Given the description of an element on the screen output the (x, y) to click on. 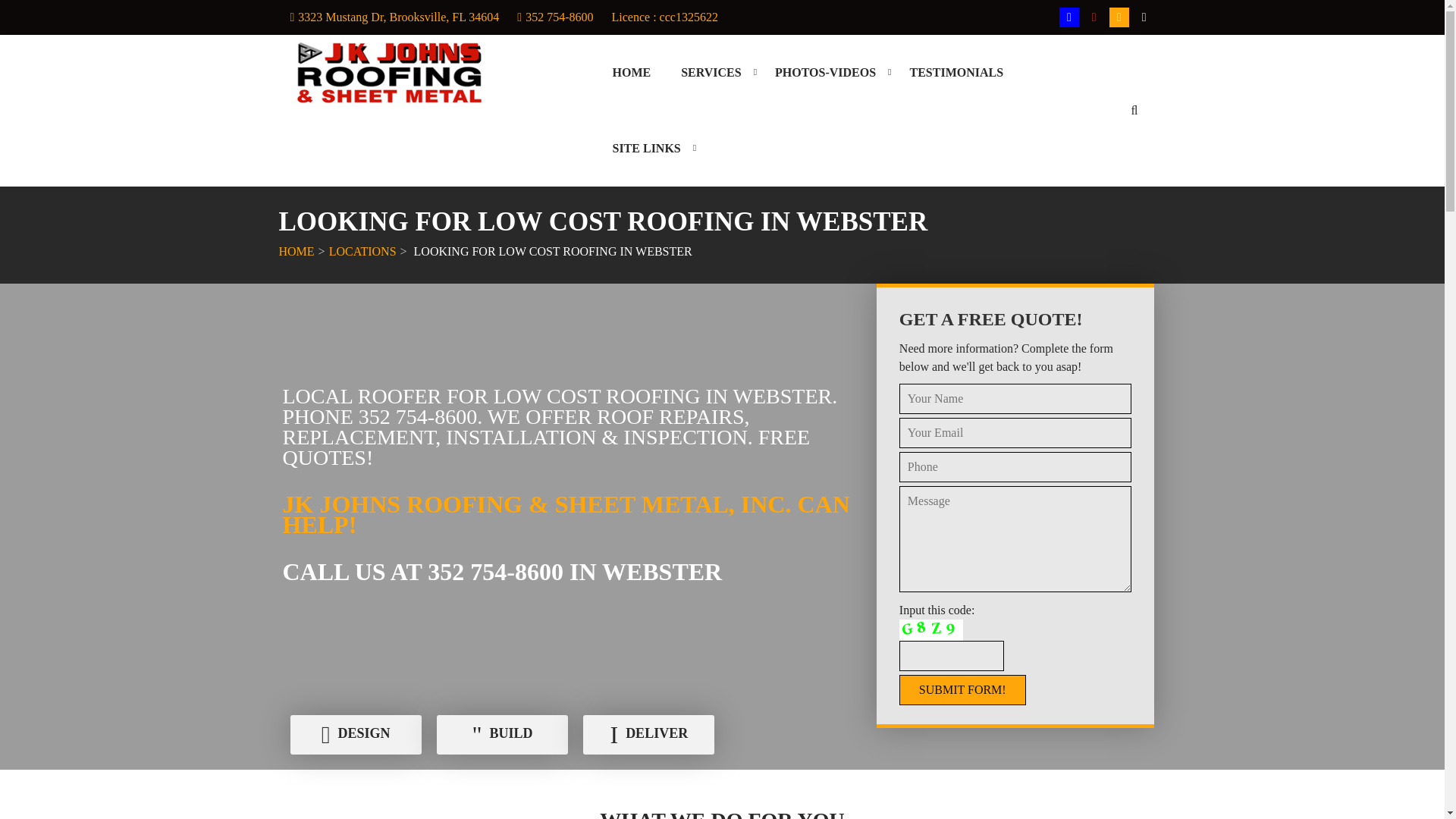
PHOTOS-VIDEOS (825, 72)
Home (630, 72)
Photos-Videos (825, 72)
SITE LINKS (645, 148)
SUBMIT FORM! (962, 689)
352 754-8600 (558, 16)
LOCATIONS (362, 250)
HOME (296, 250)
HOME (630, 72)
TESTIMONIALS (955, 72)
